Given the description of an element on the screen output the (x, y) to click on. 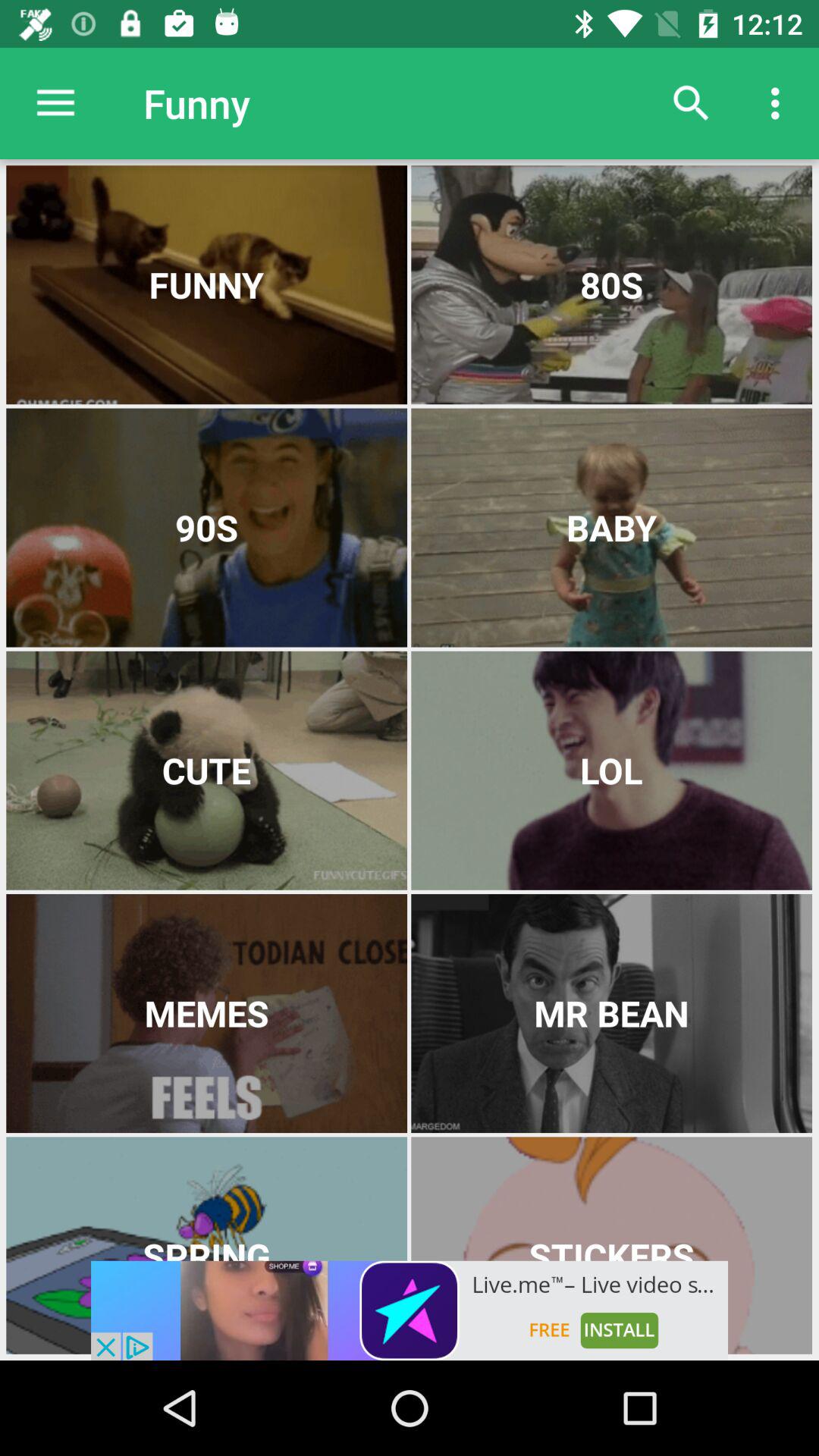
open add (409, 1310)
